Given the description of an element on the screen output the (x, y) to click on. 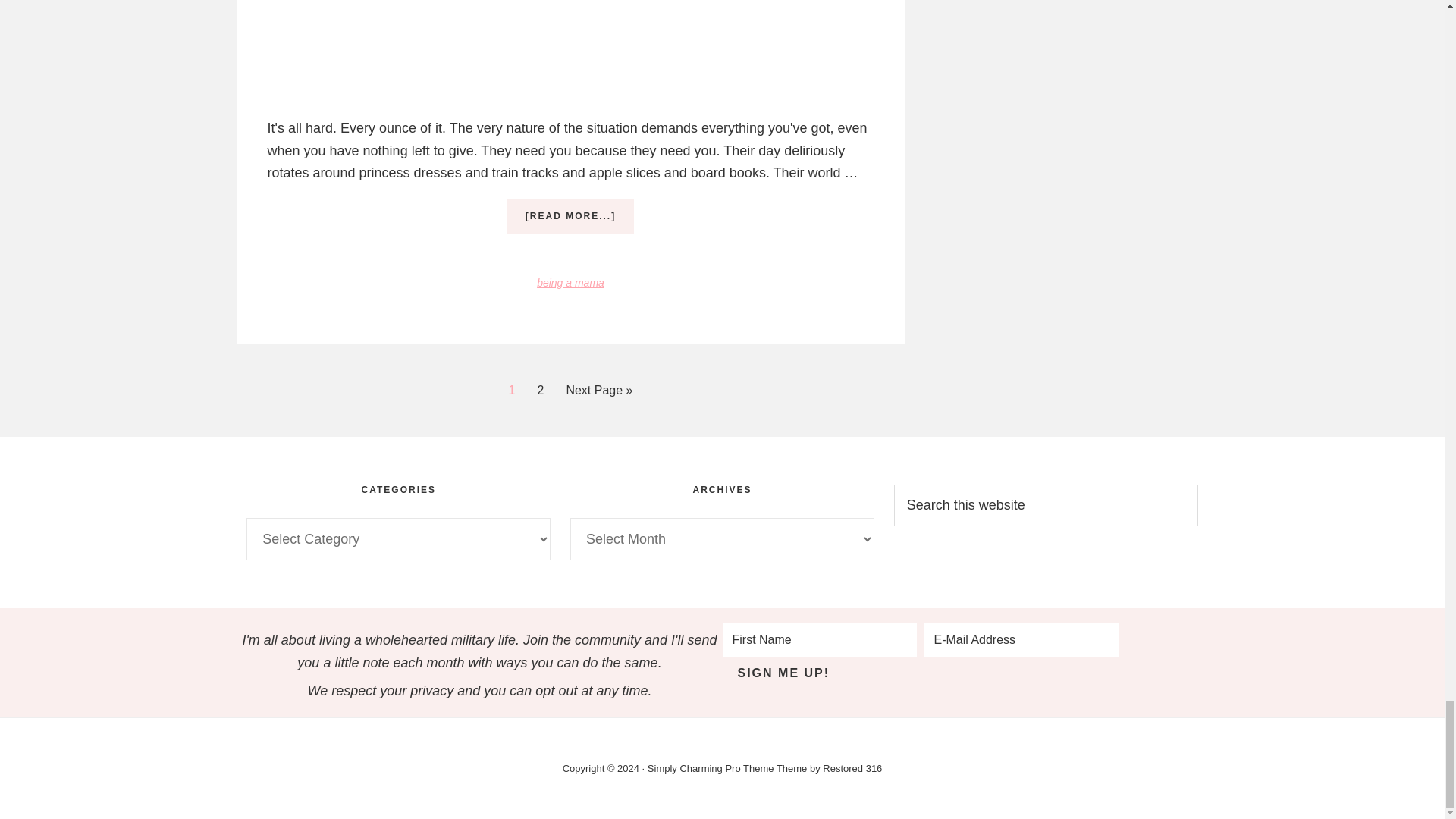
Restored 316 (852, 767)
sign me up! (783, 673)
